Given the description of an element on the screen output the (x, y) to click on. 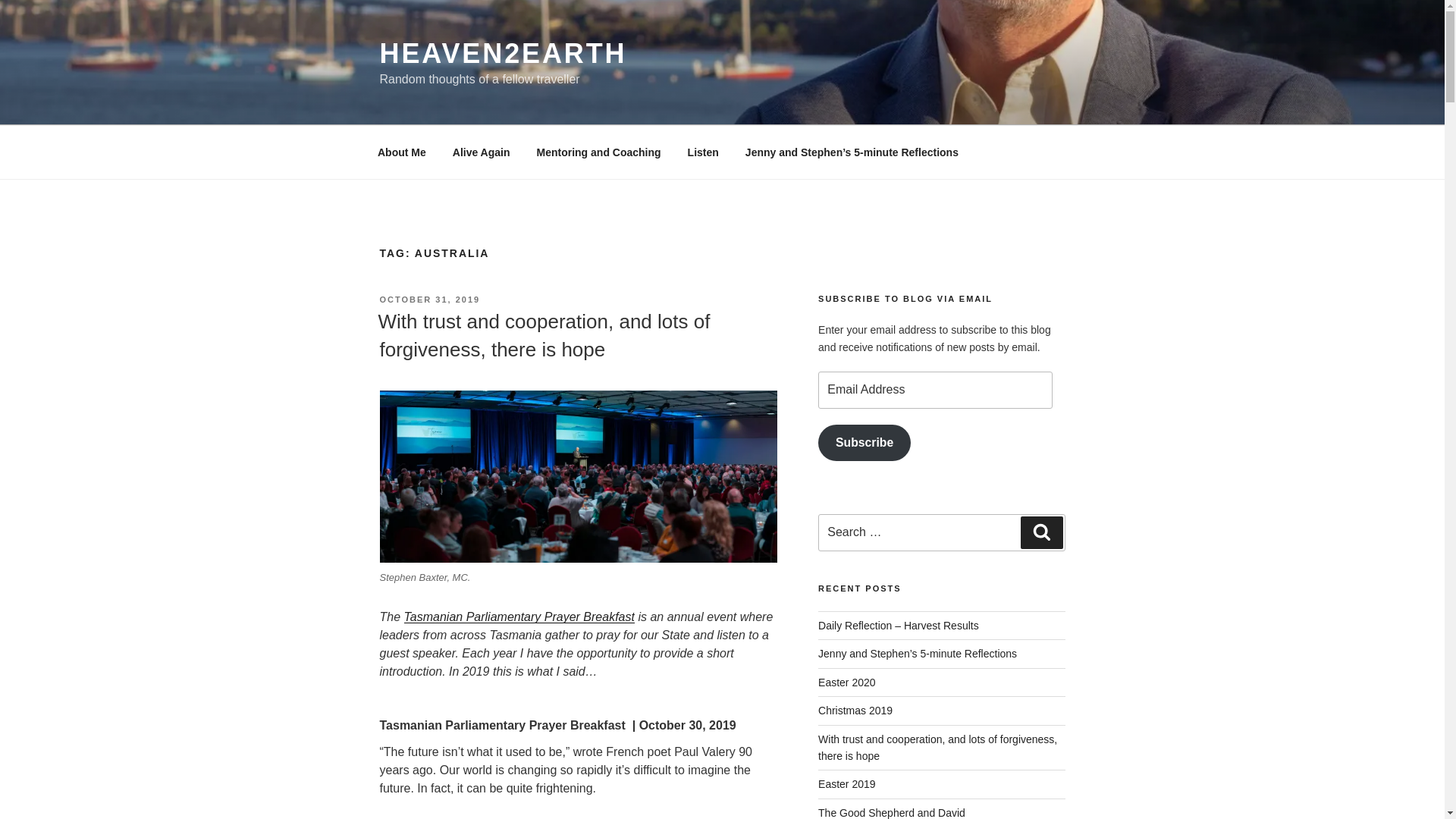
OCTOBER 31, 2019 (429, 298)
About Me (401, 151)
Mentoring and Coaching (598, 151)
Alive Again (480, 151)
Listen (703, 151)
HEAVEN2EARTH (502, 52)
Tasmanian Parliamentary Prayer Breakfast (519, 616)
